Given the description of an element on the screen output the (x, y) to click on. 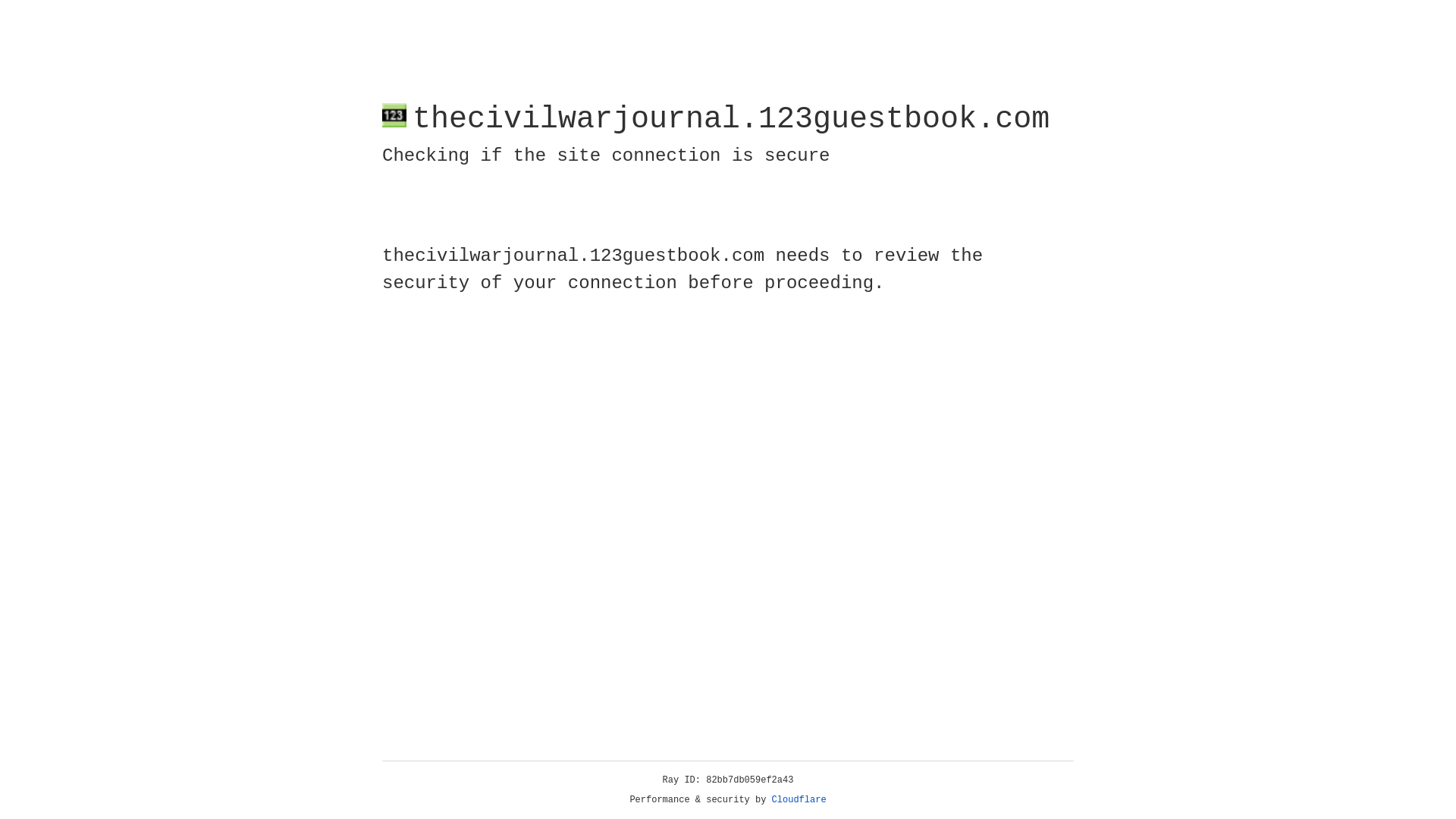
Cloudflare Element type: text (798, 799)
